Given the description of an element on the screen output the (x, y) to click on. 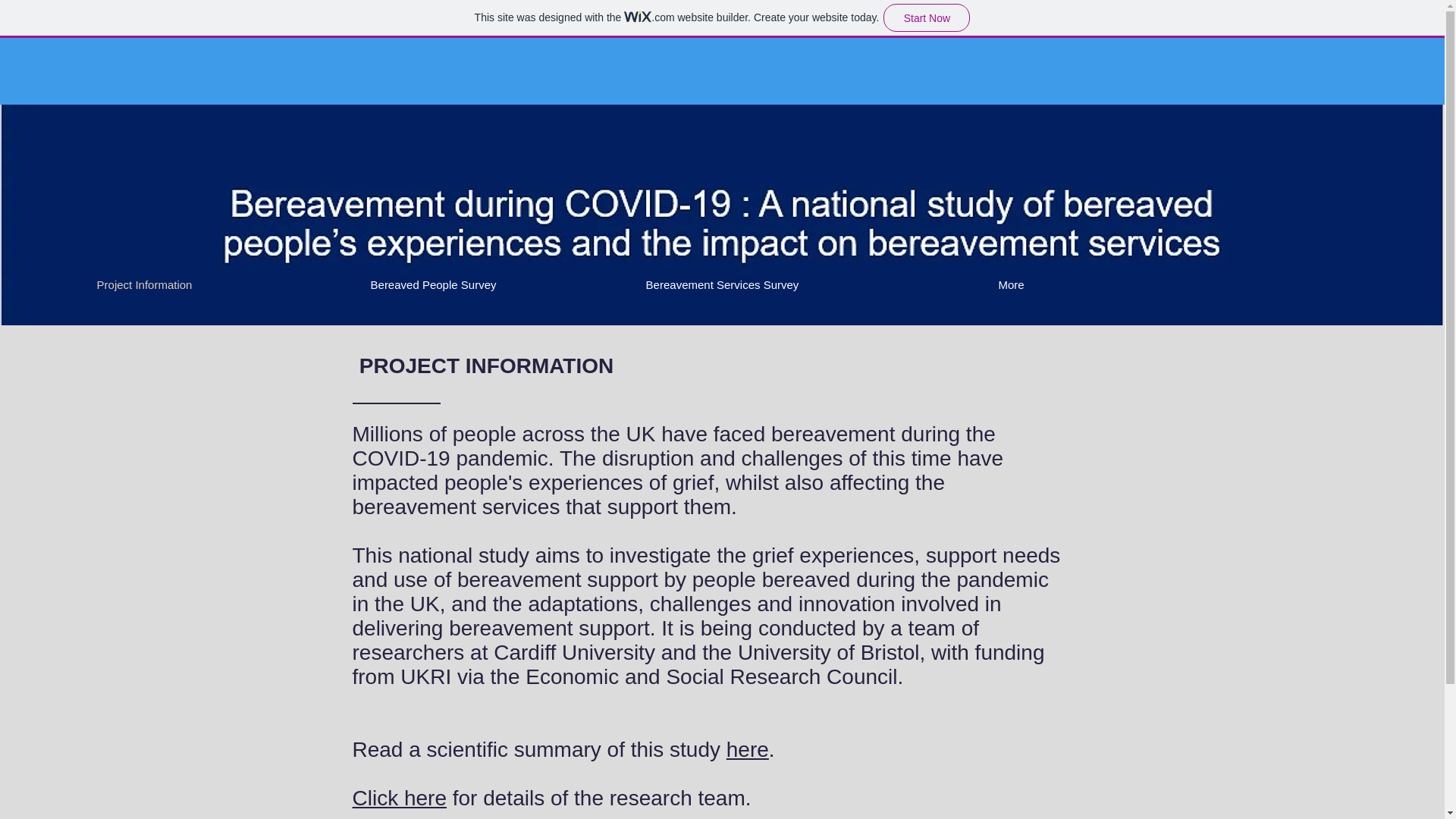
Click here (398, 797)
Bereavement Services Survey (722, 284)
Project Information (144, 284)
Bereaved People Survey (433, 284)
here (747, 749)
